Given the description of an element on the screen output the (x, y) to click on. 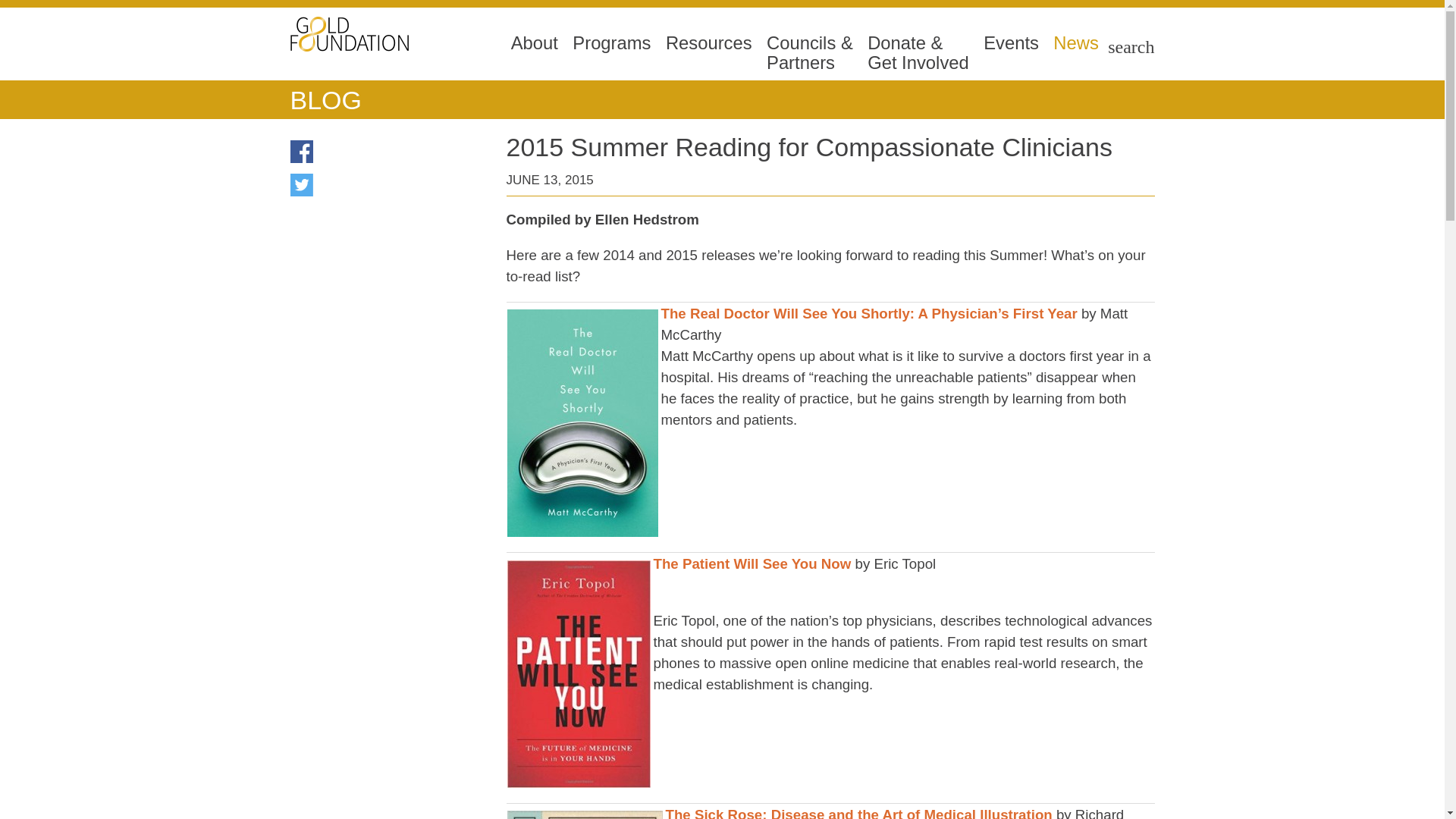
Resources (708, 52)
Programs (611, 52)
About (534, 52)
